Given the description of an element on the screen output the (x, y) to click on. 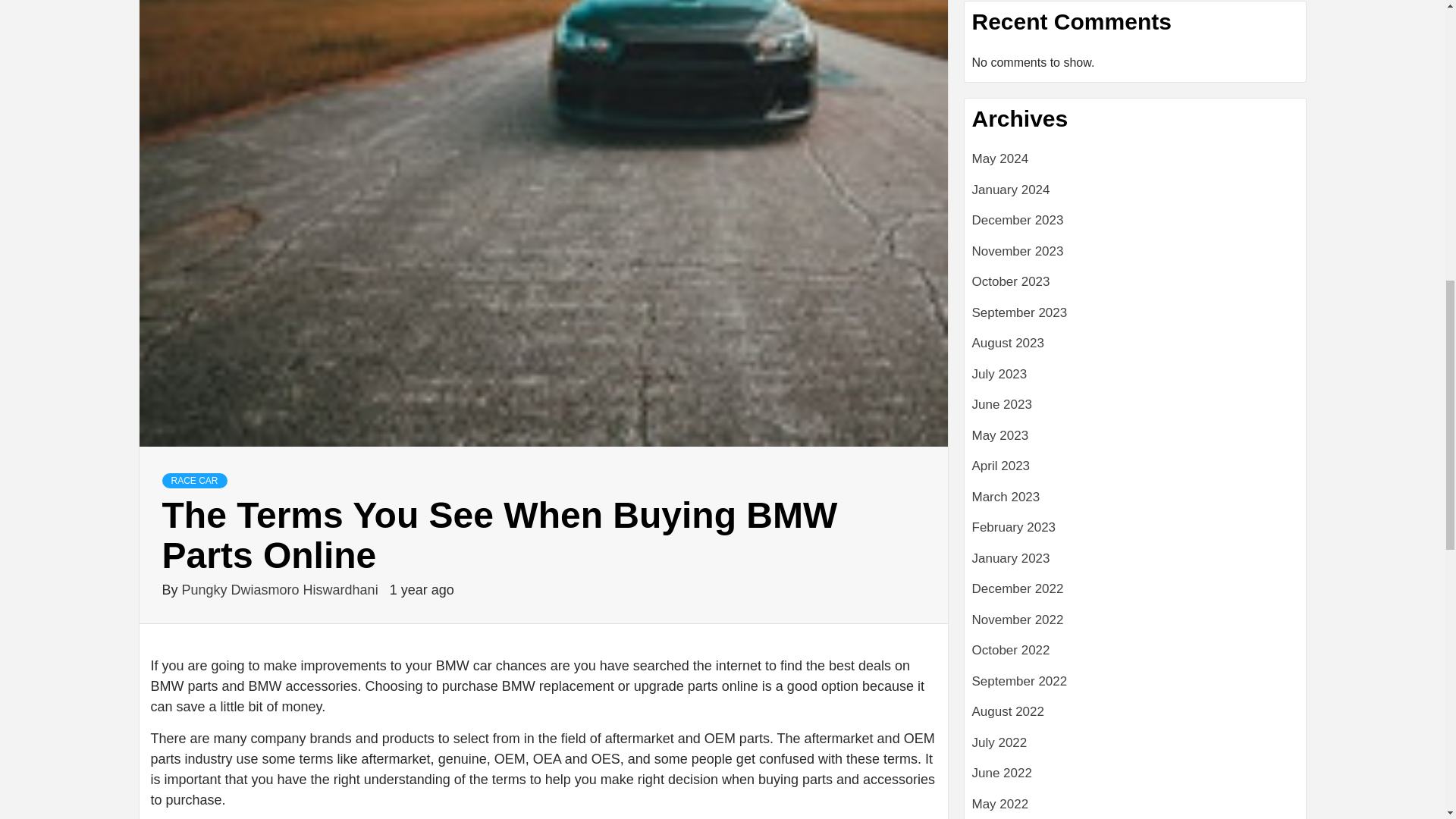
May 2024 (1135, 164)
February 2023 (1135, 532)
September 2023 (1135, 318)
July 2023 (1135, 379)
April 2023 (1135, 471)
December 2023 (1135, 225)
October 2023 (1135, 287)
May 2023 (1135, 441)
RACE CAR (194, 480)
August 2023 (1135, 348)
Pungky Dwiasmoro Hiswardhani (281, 589)
June 2023 (1135, 409)
March 2023 (1135, 502)
November 2023 (1135, 256)
